Given the description of an element on the screen output the (x, y) to click on. 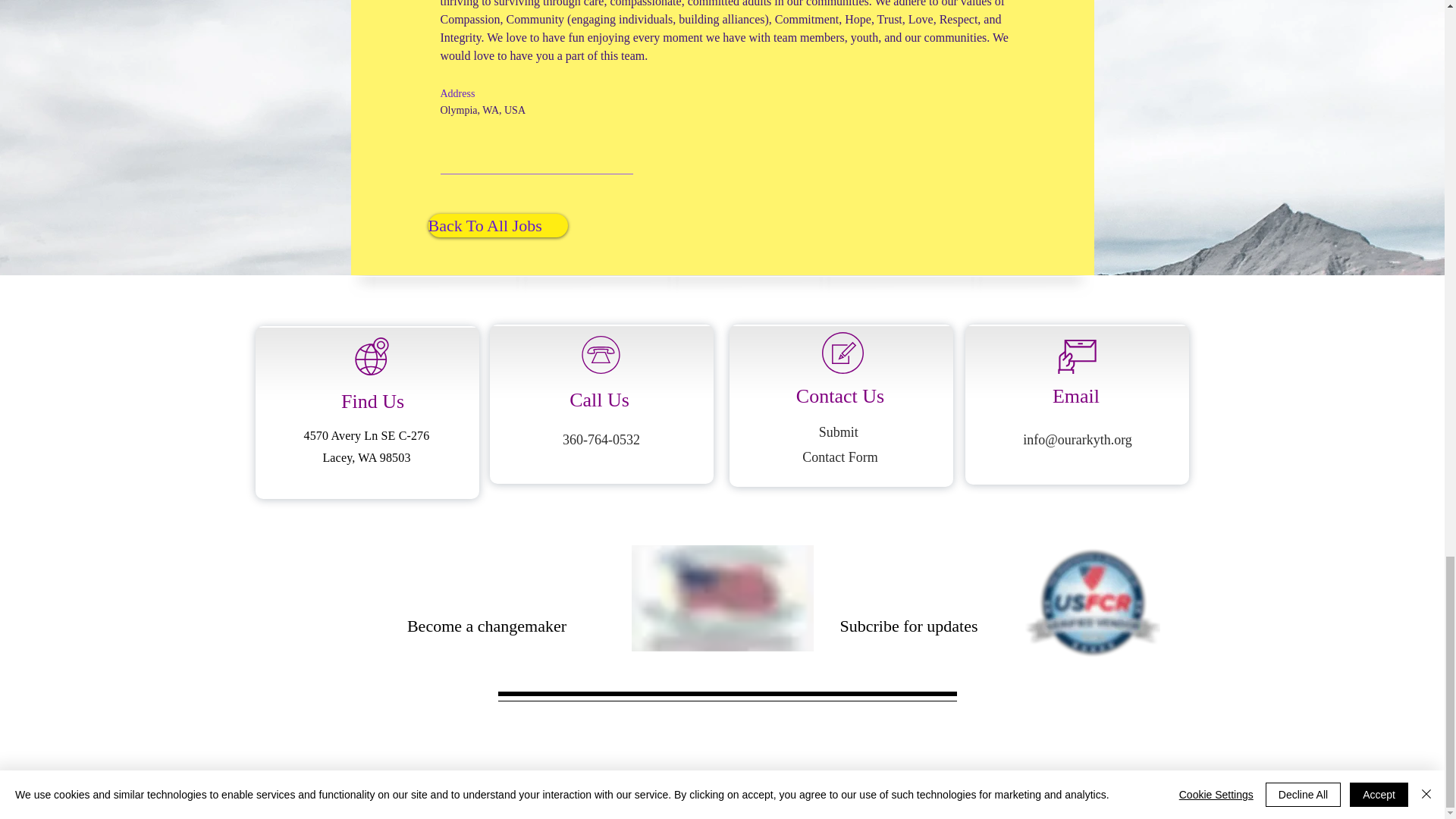
360-764-0532 (601, 439)
Call Us (598, 400)
Back To All Jobs (497, 225)
Email (1075, 395)
Submit  (839, 432)
Find Us (372, 401)
Become a changemaker (486, 625)
Contact Form (839, 457)
Contact Us (839, 395)
